Given the description of an element on the screen output the (x, y) to click on. 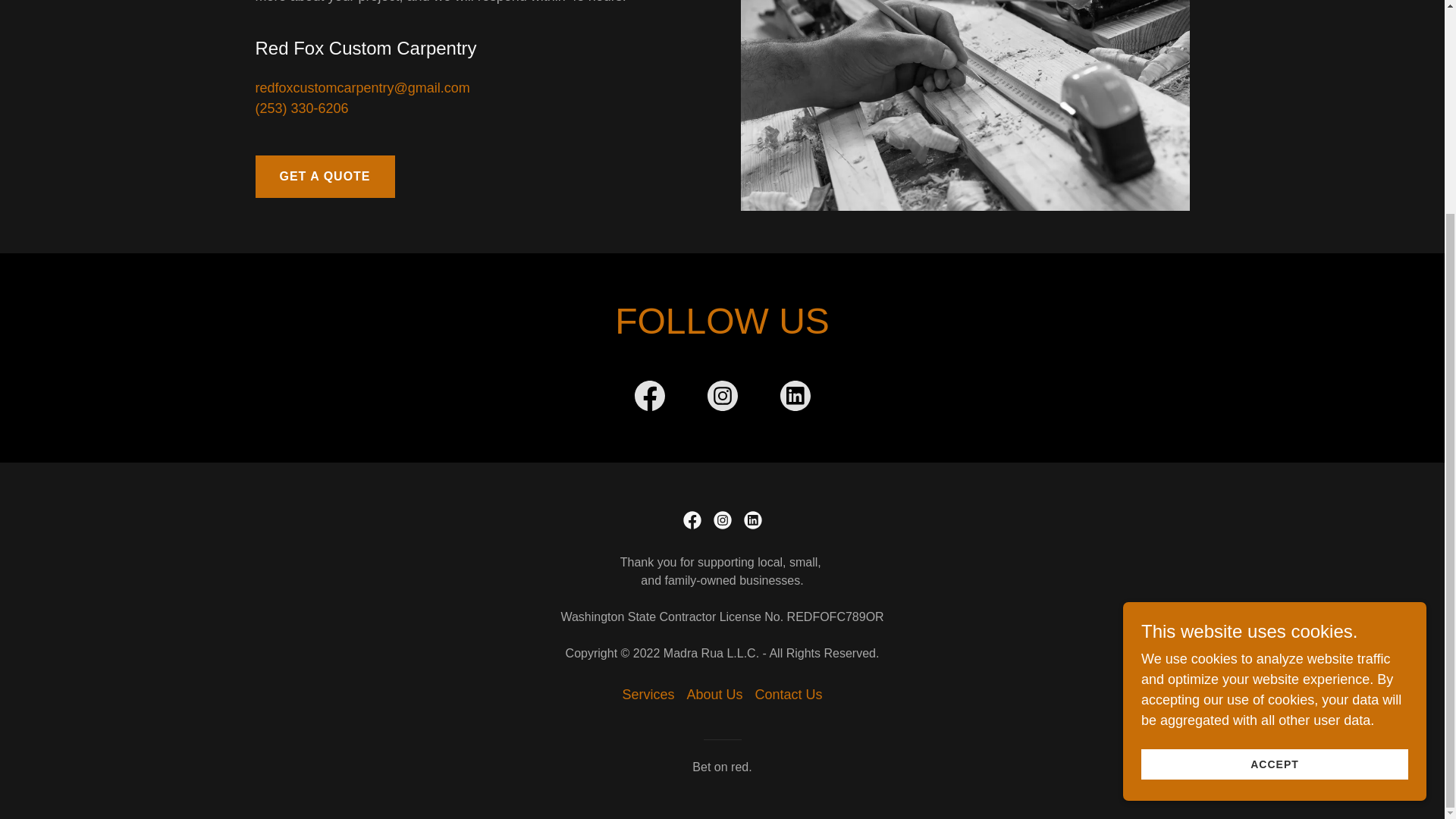
Services (647, 694)
GET A QUOTE (324, 176)
Contact Us (788, 694)
About Us (713, 694)
